Given the description of an element on the screen output the (x, y) to click on. 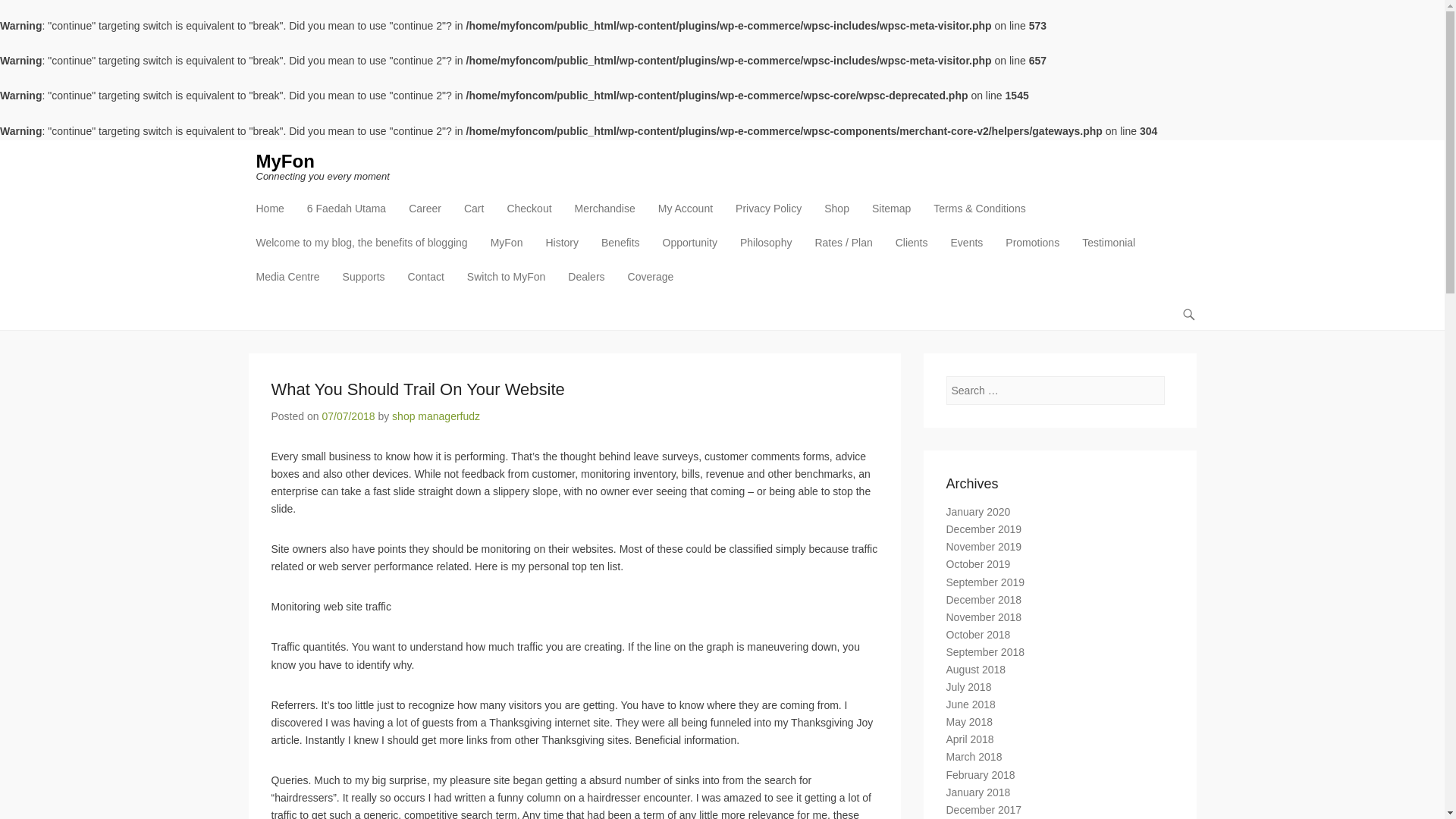
Welcome to my blog, the benefits of blogging (362, 252)
Media Centre (287, 286)
MyFon (507, 252)
My Account (685, 217)
Merchandise (605, 217)
Home (270, 217)
Career (424, 217)
Opportunity (690, 252)
Supports (363, 286)
Privacy Policy (768, 217)
Checkout (529, 217)
Cart (474, 217)
History (561, 252)
Sitemap (891, 217)
Promotions (1032, 252)
